Given the description of an element on the screen output the (x, y) to click on. 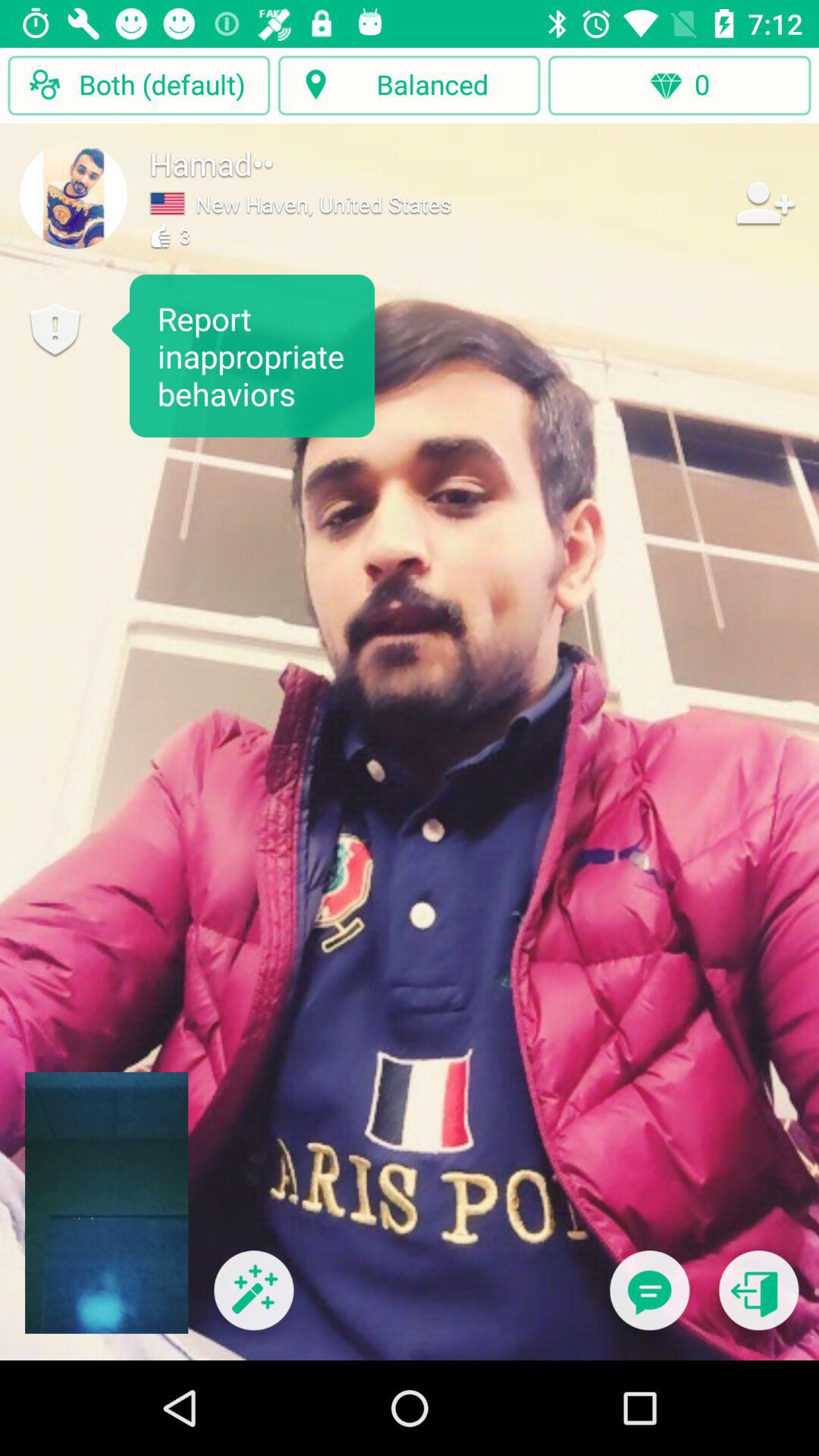
launch the icon below report inappropriate behaviors (253, 1300)
